Given the description of an element on the screen output the (x, y) to click on. 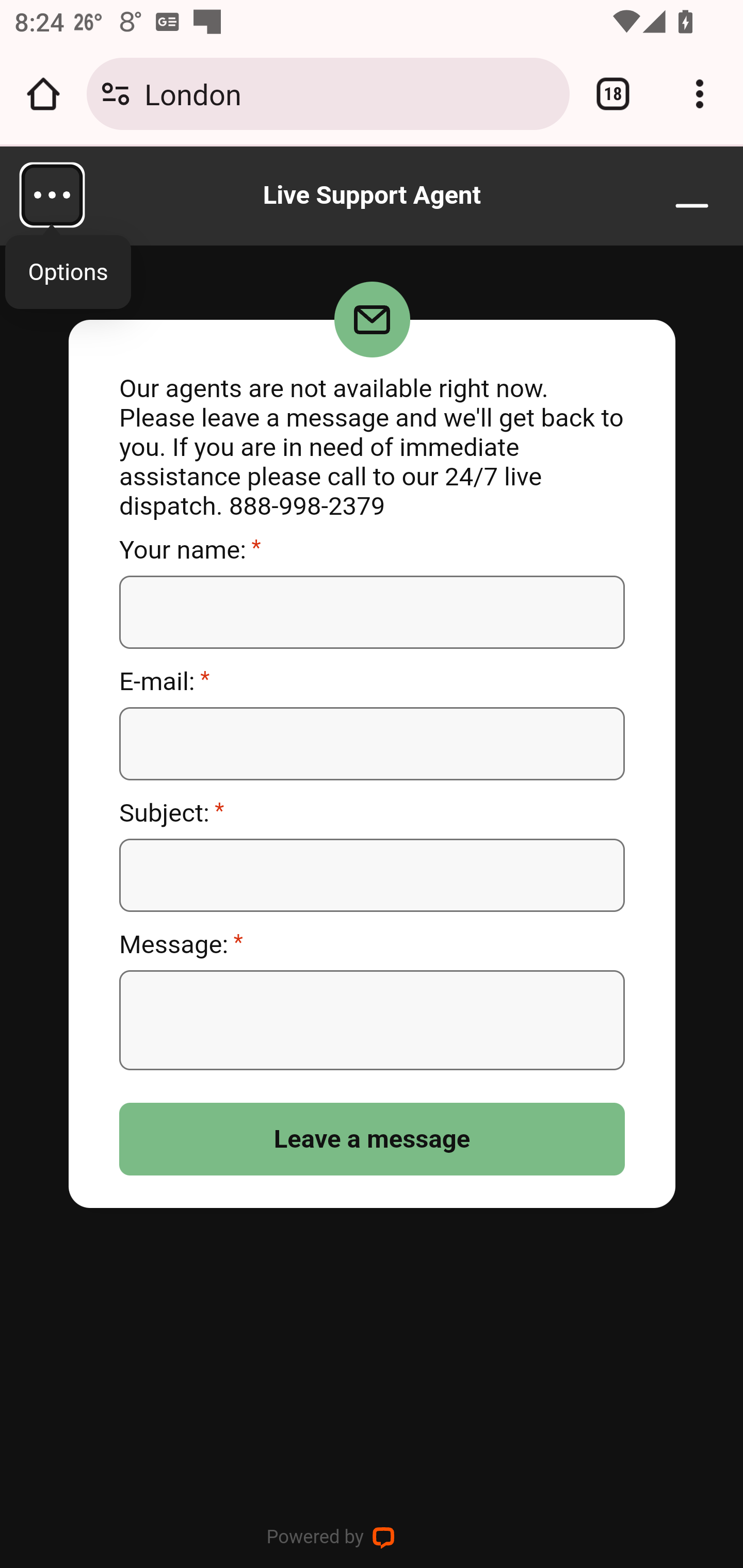
Open the home page (43, 93)
Connection is secure (115, 93)
Switch or close tabs (612, 93)
Customize and control Google Chrome (699, 93)
London (349, 92)
